Given the description of an element on the screen output the (x, y) to click on. 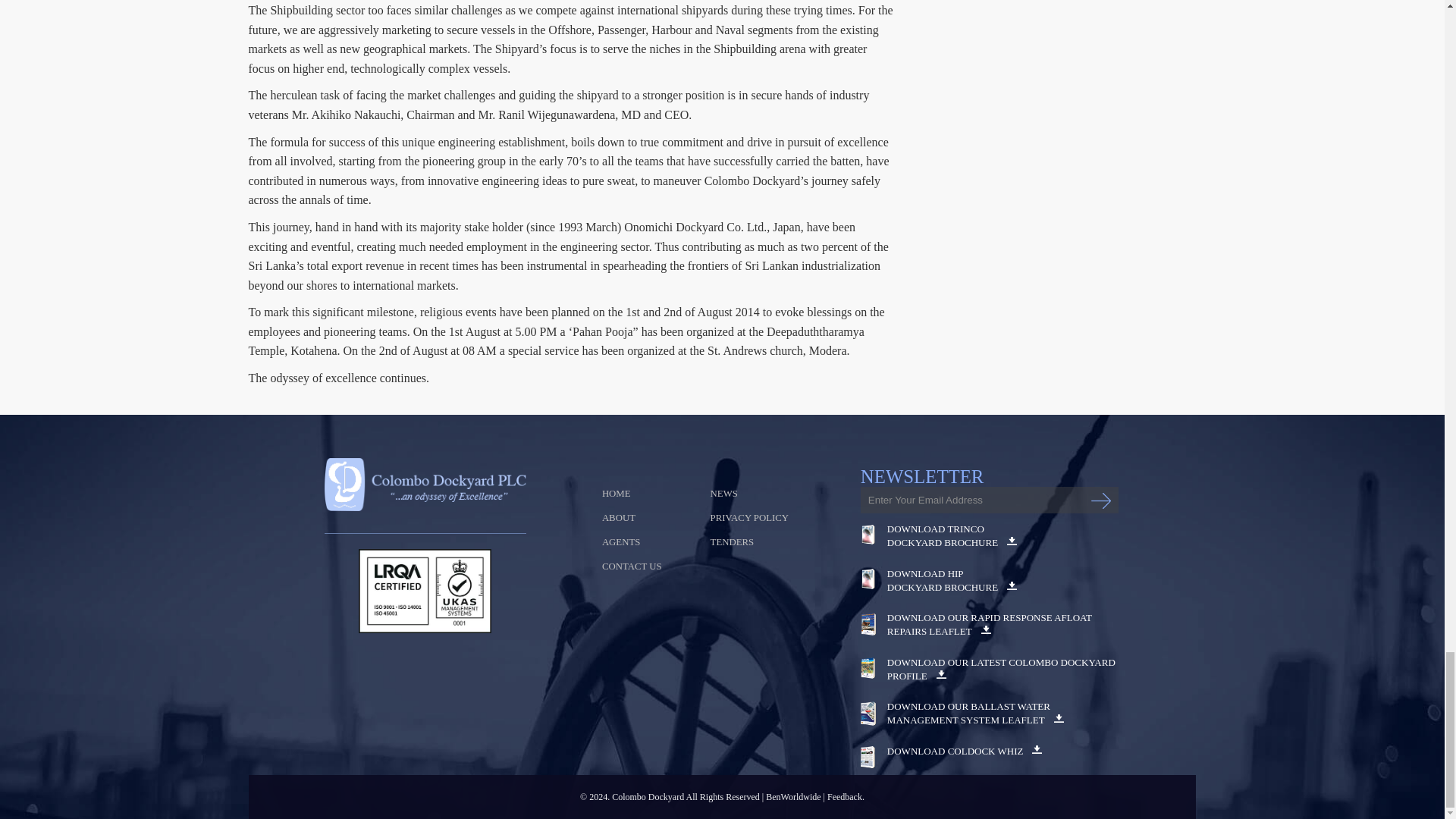
BenWorldwide (793, 796)
Feedback (845, 796)
Enter Your Email Address (989, 499)
Subscribe (1100, 500)
